Given the description of an element on the screen output the (x, y) to click on. 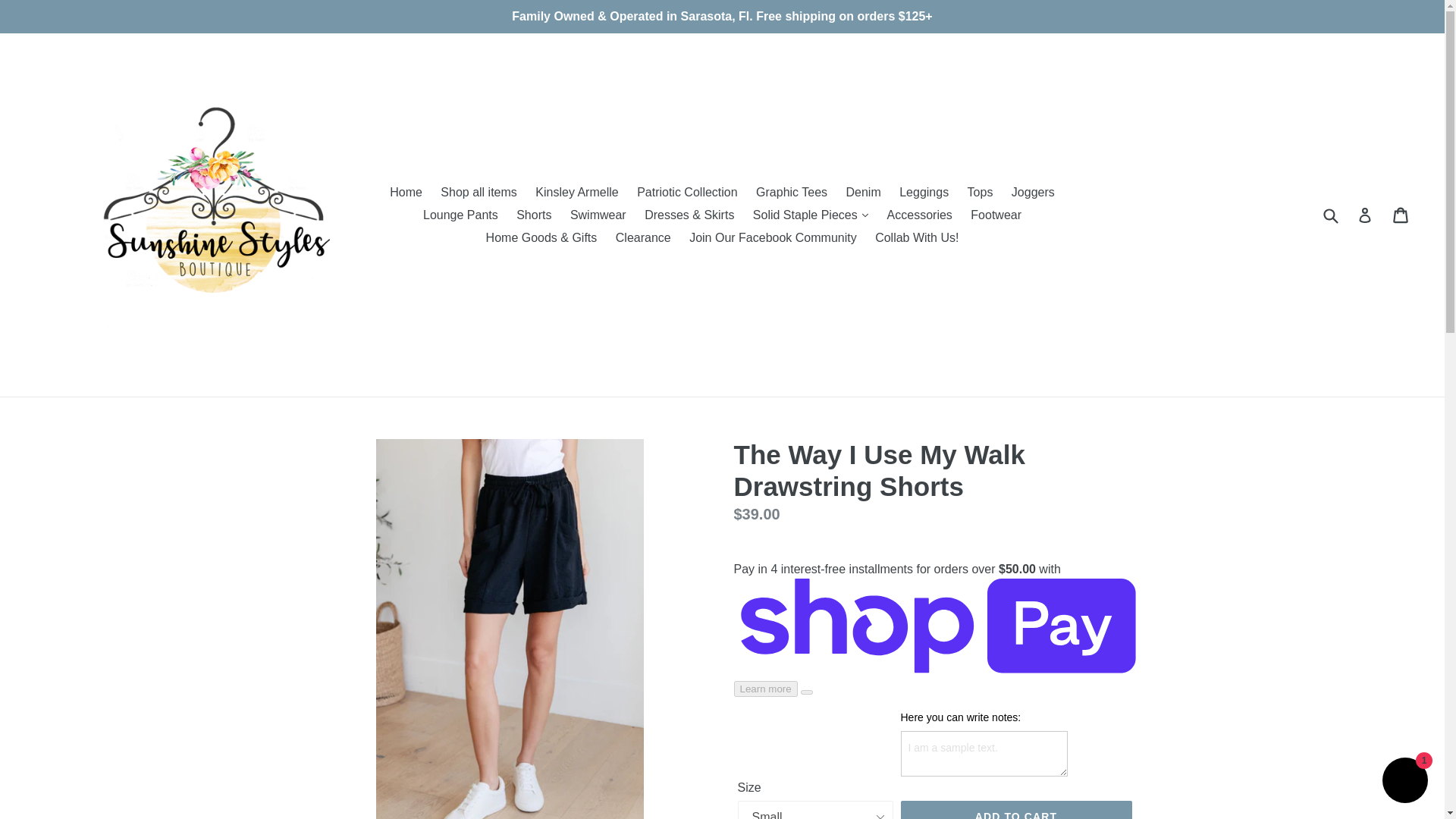
Shopify online store chat (1404, 781)
Lounge Pants (459, 214)
Joggers (1033, 191)
Home (405, 191)
Leggings (923, 191)
Shorts (533, 214)
Denim (863, 191)
Tops (980, 191)
Graphic Tees (791, 191)
Shop all items (478, 191)
Patriotic Collection (686, 191)
Kinsley Armelle (576, 191)
